Given the description of an element on the screen output the (x, y) to click on. 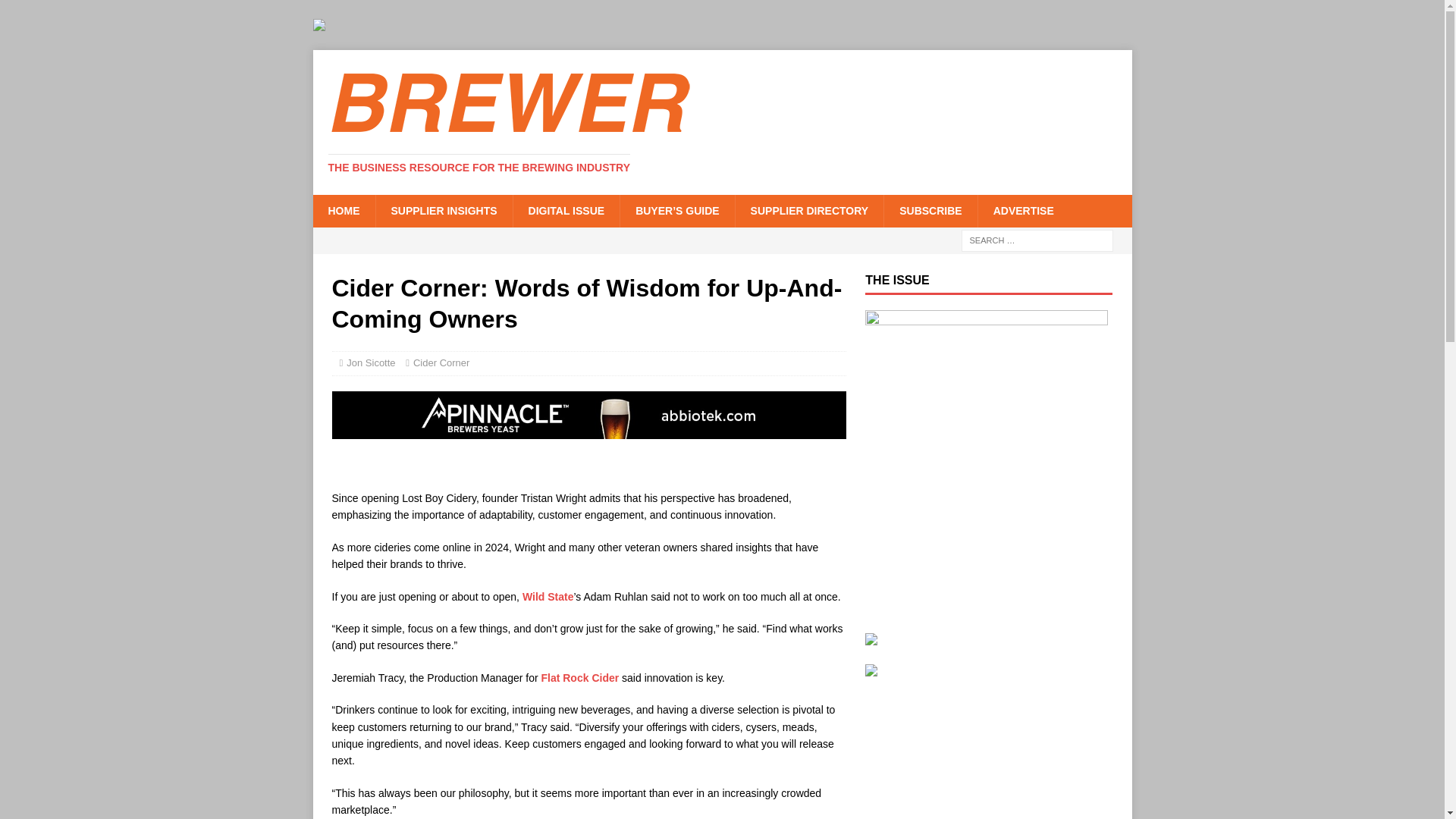
Search (56, 11)
Jon Sicotte (370, 362)
THE BUSINESS RESOURCE FOR THE BREWING INDUSTRY (478, 167)
DIGITAL ISSUE (566, 210)
HOME (343, 210)
Wild State (547, 596)
ADVERTISE (1022, 210)
SUBSCRIBE (929, 210)
SUPPLIER INSIGHTS (443, 210)
Flat Rock Cider (579, 677)
SUPPLIER DIRECTORY (809, 210)
Cider Corner (440, 362)
